Given the description of an element on the screen output the (x, y) to click on. 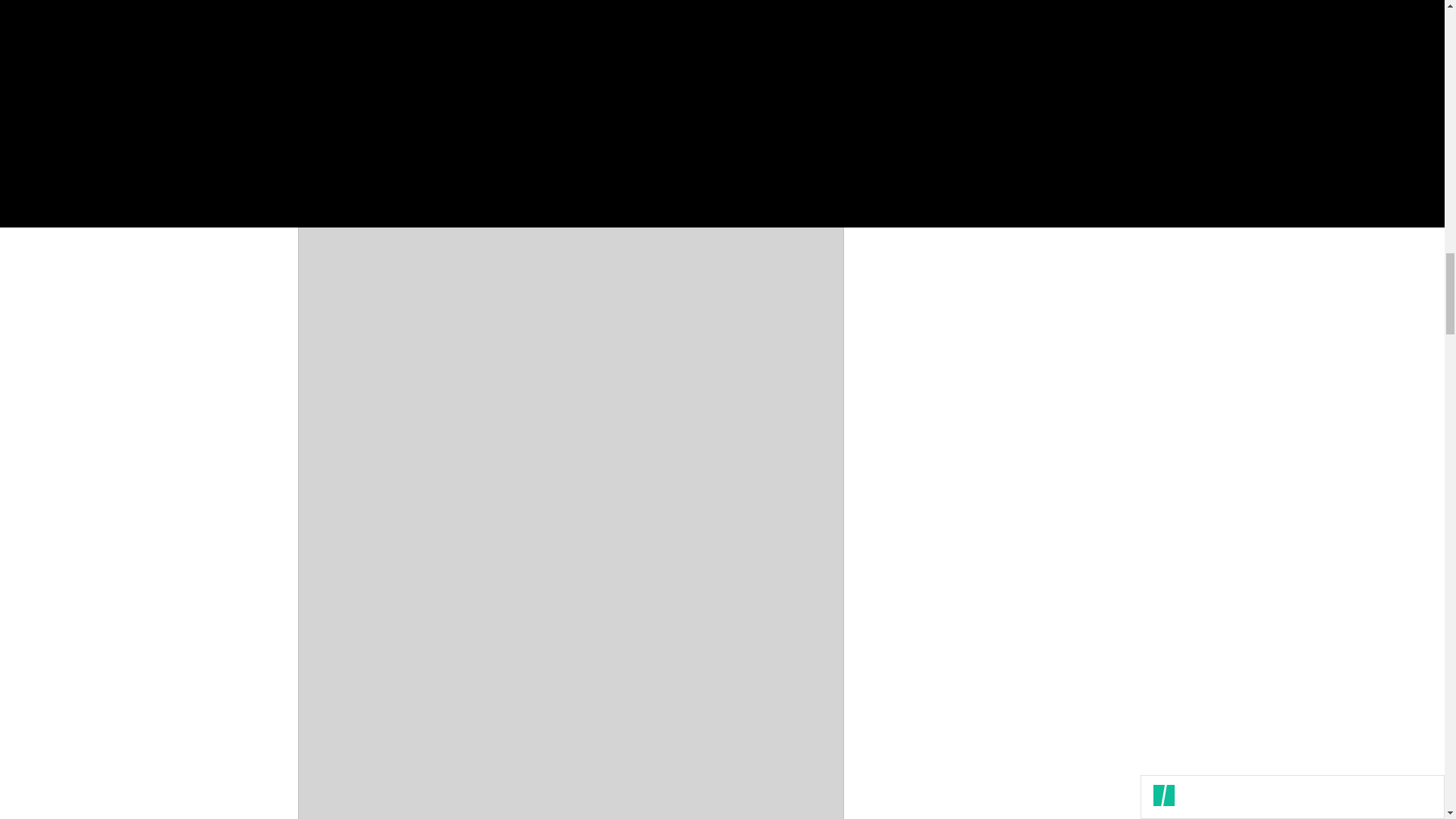
SIGN UP (1098, 67)
